Given the description of an element on the screen output the (x, y) to click on. 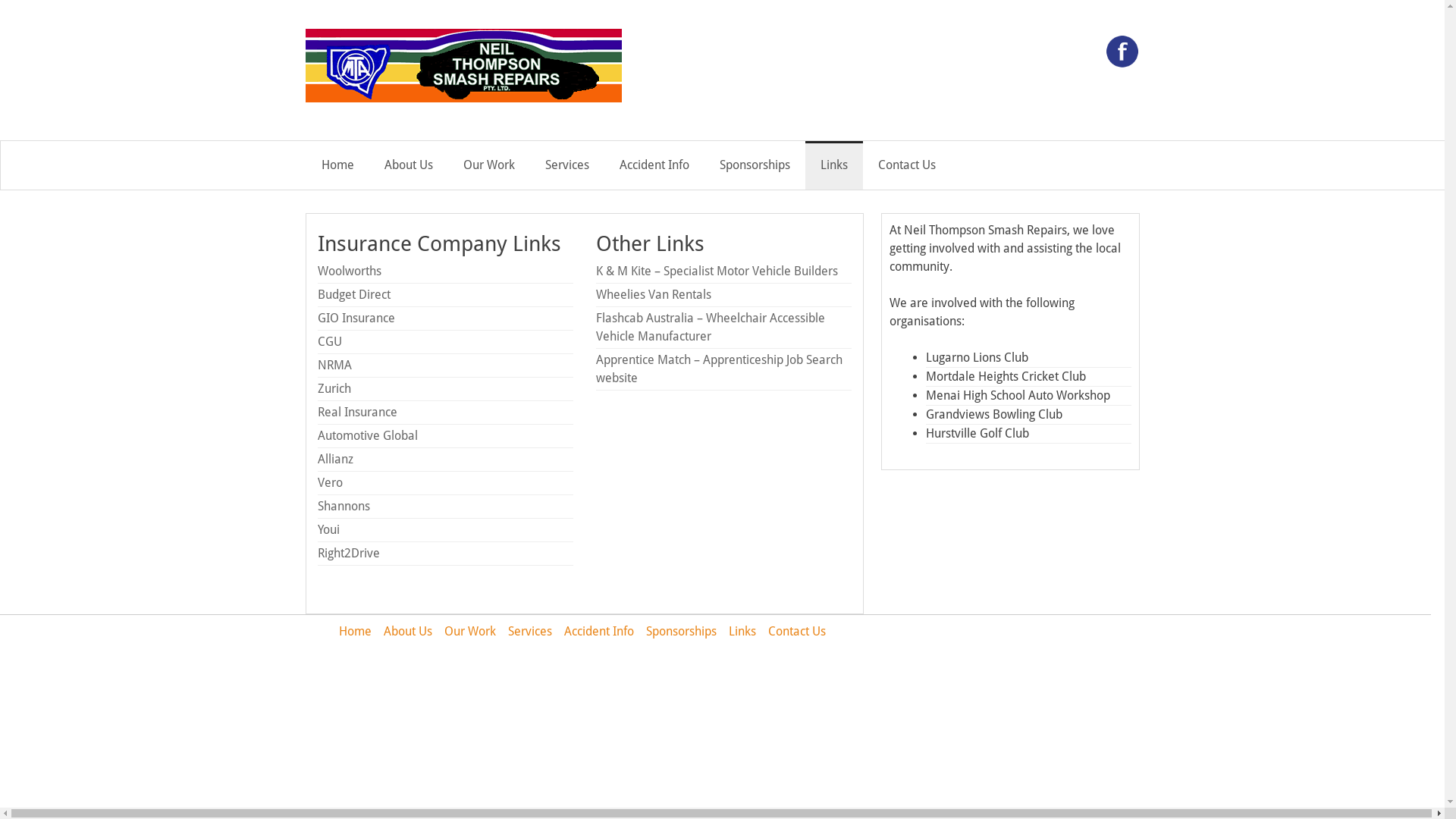
Budget Direct Element type: text (352, 294)
Shannons Element type: text (342, 506)
GIO Insurance Element type: text (355, 318)
Services Element type: text (566, 165)
NRMA Element type: text (333, 365)
Contact Us Element type: text (796, 631)
Zurich Element type: text (333, 388)
Youi Element type: text (327, 529)
Right2Drive Element type: text (347, 553)
Home Element type: text (337, 165)
Sponsorships Element type: text (681, 631)
Our Work Element type: text (469, 631)
Our Work Element type: text (488, 165)
Allianz Element type: text (334, 459)
CGU Element type: text (328, 341)
Accident Info Element type: text (598, 631)
Woolworths Element type: text (348, 271)
Links Element type: text (742, 631)
Facebook Element type: hover (1121, 64)
Accident Info Element type: text (653, 165)
Services Element type: text (529, 631)
About Us Element type: text (407, 165)
Skip to content Element type: text (360, 165)
Wheelies Van Rentals Element type: text (653, 294)
Contact Us Element type: text (906, 165)
Links Element type: text (833, 165)
Vero Element type: text (329, 482)
Sponsorships Element type: text (753, 165)
Automotive Global Element type: text (366, 435)
About Us Element type: text (407, 631)
Home Element type: text (355, 631)
Real Insurance Element type: text (356, 412)
